Given the description of an element on the screen output the (x, y) to click on. 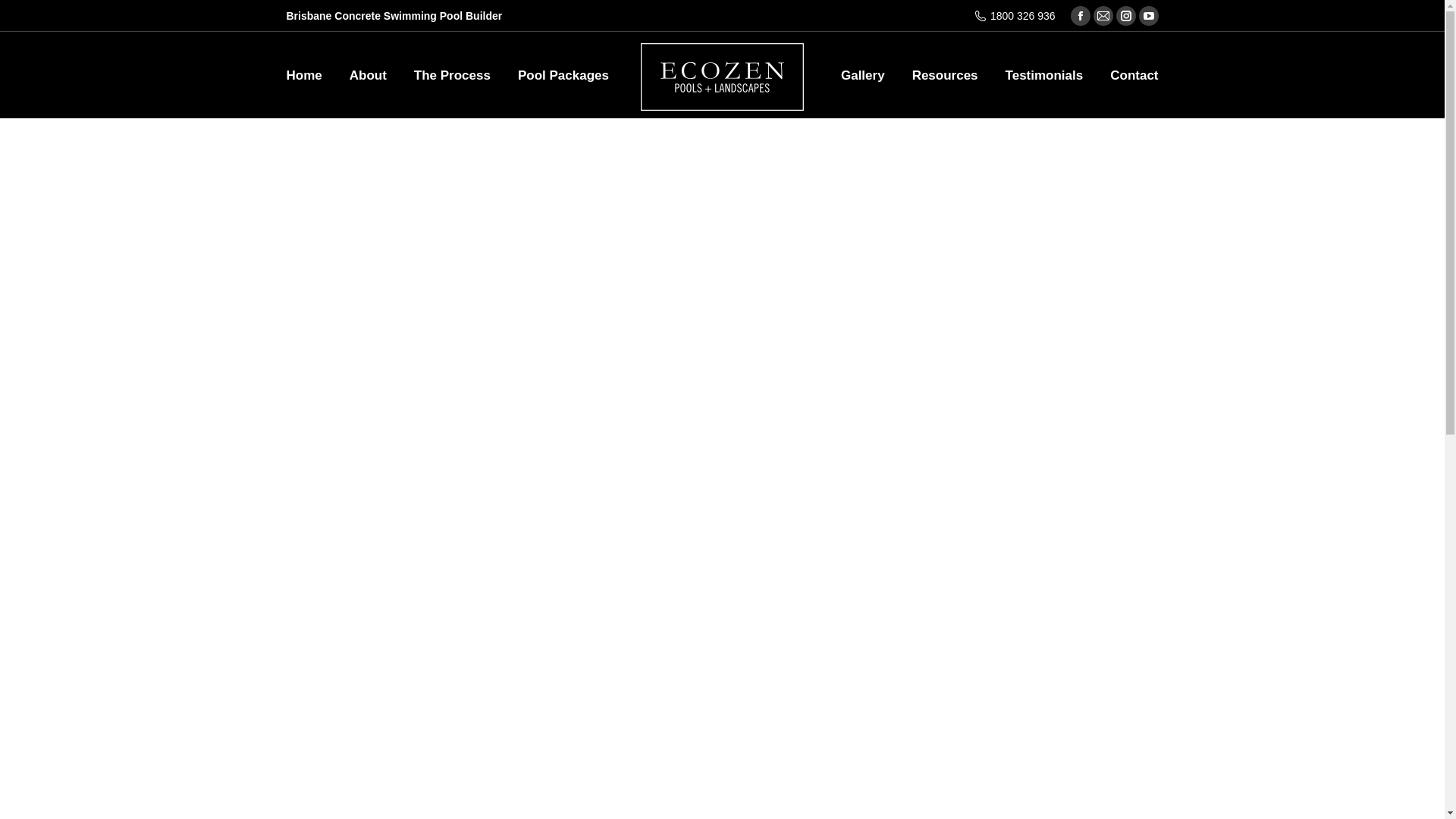
YouTube page opens in new window Element type: text (1148, 15)
The Process Element type: text (452, 74)
Testimonials Element type: text (1044, 74)
Mail page opens in new window Element type: text (1103, 15)
Resources Element type: text (945, 74)
Home Element type: text (304, 74)
Gallery Element type: text (862, 74)
Facebook page opens in new window Element type: text (1080, 15)
Contact Element type: text (1133, 74)
Pool Packages Element type: text (562, 74)
Instagram page opens in new window Element type: text (1125, 15)
1800 326 936 Element type: text (1014, 15)
About Element type: text (367, 74)
